Given the description of an element on the screen output the (x, y) to click on. 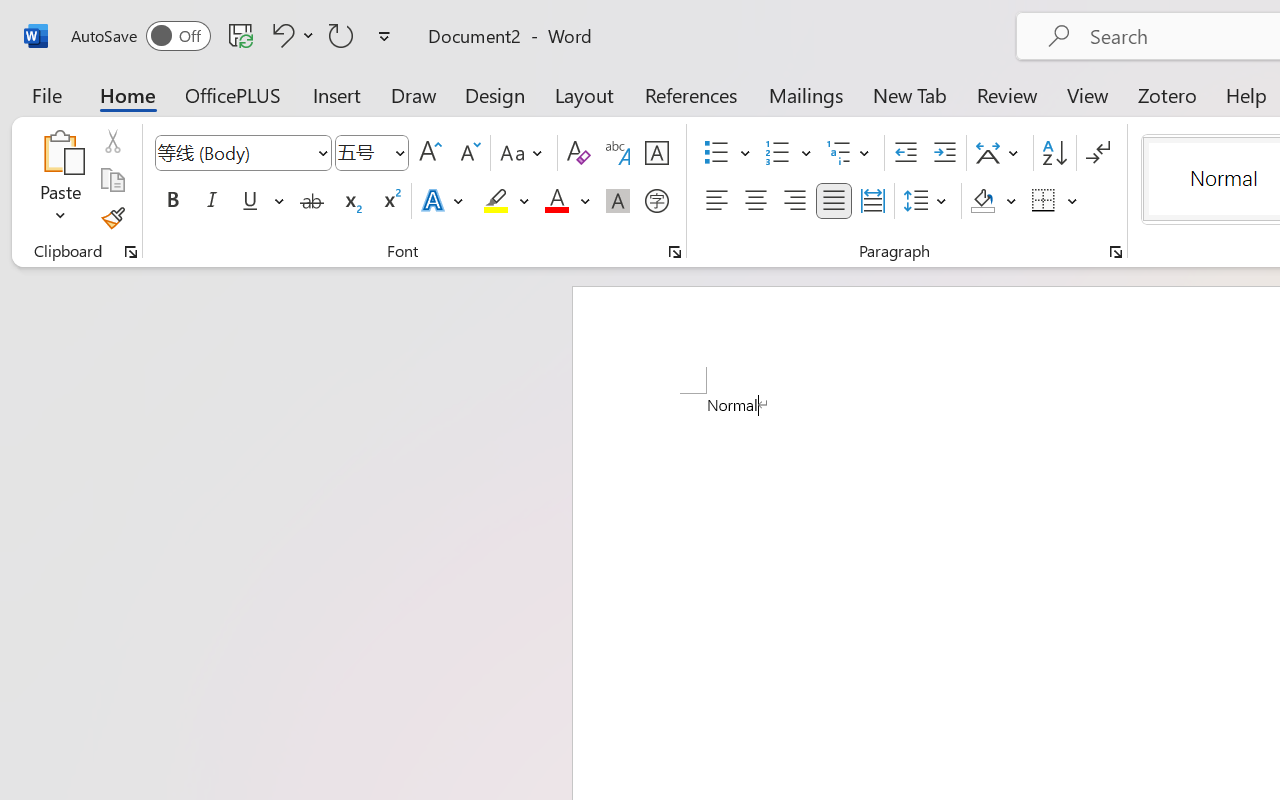
Show/Hide Editing Marks (1098, 153)
Bullets (727, 153)
New Tab (909, 94)
Borders (1044, 201)
Paragraph... (1115, 252)
Office Clipboard... (131, 252)
Multilevel List (850, 153)
Customize Quick Access Toolbar (384, 35)
Text Effects and Typography (444, 201)
Undo Apply Quick Style (290, 35)
Center (756, 201)
Enclose Characters... (656, 201)
Numbering (778, 153)
Zotero (1166, 94)
